Given the description of an element on the screen output the (x, y) to click on. 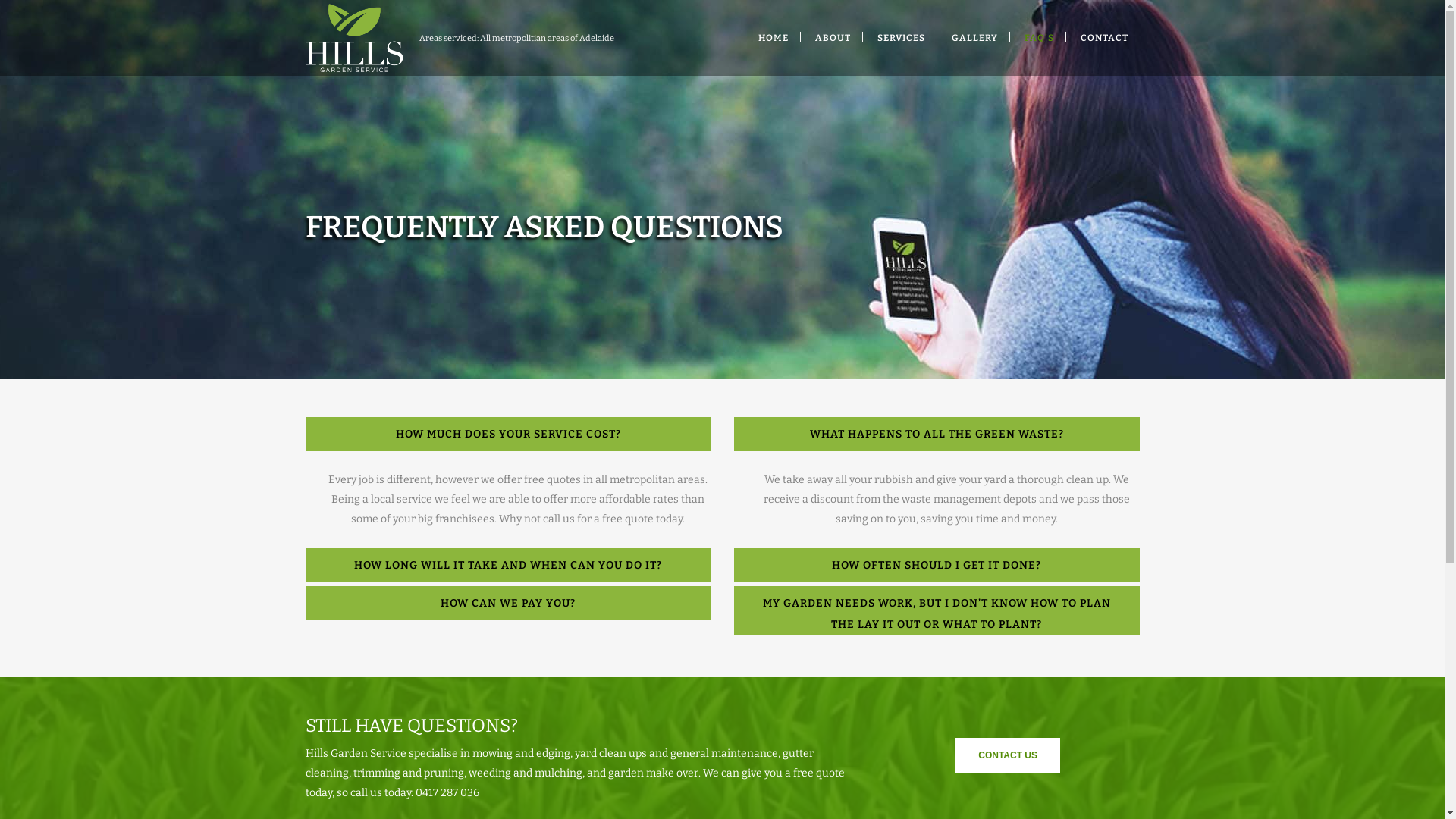
0417 287 036 Element type: text (447, 792)
ABOUT Element type: text (832, 37)
HOME Element type: text (772, 37)
GALLERY Element type: text (974, 37)
SERVICES Element type: text (901, 37)
CONTACT US Element type: text (1007, 755)
CONTACT Element type: text (1104, 37)
